Given the description of an element on the screen output the (x, y) to click on. 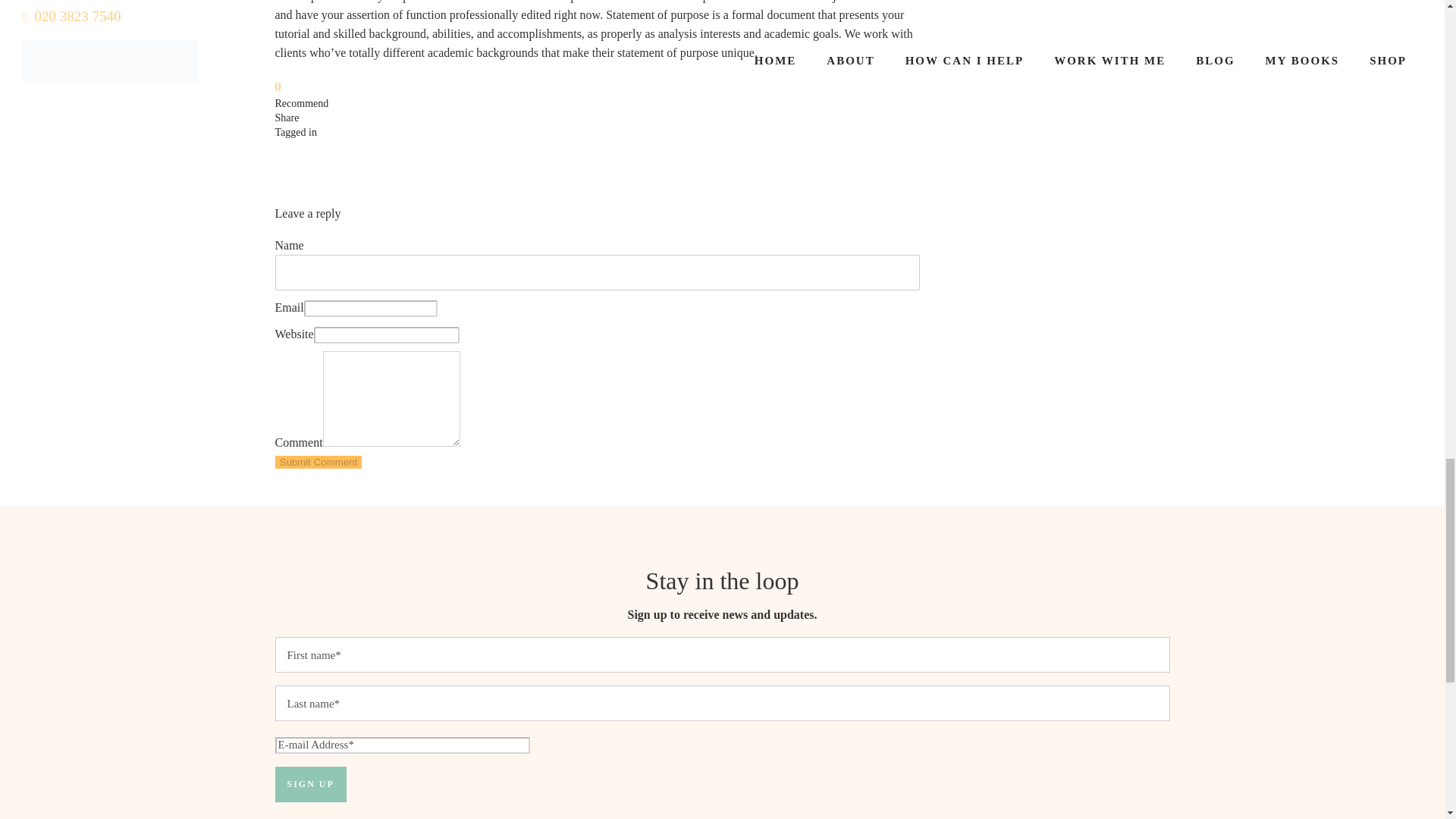
Submit Comment (318, 461)
Sign up (310, 784)
Sign up (310, 784)
